Given the description of an element on the screen output the (x, y) to click on. 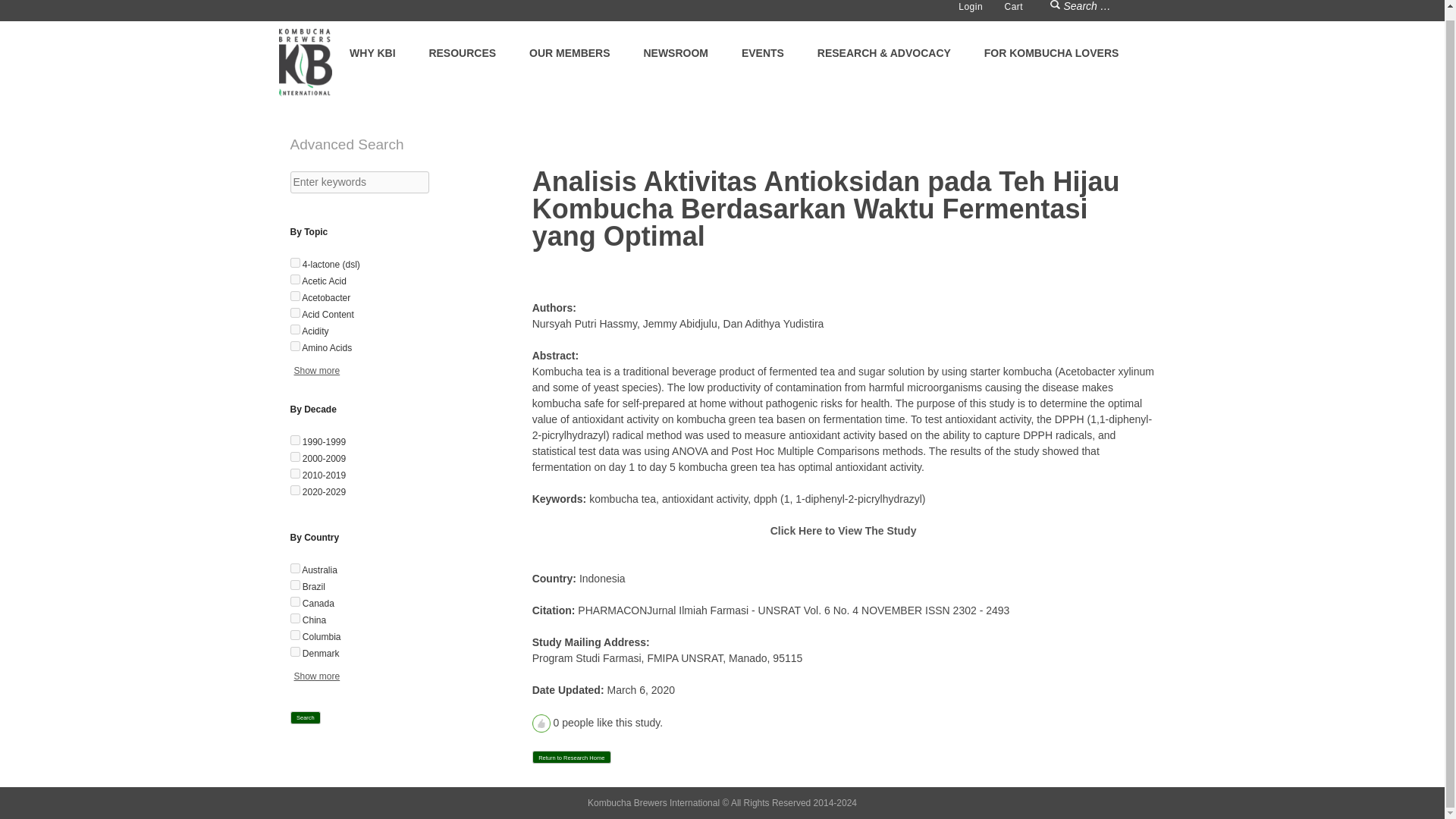
1990 (294, 439)
Denmark (294, 651)
WHY KBI (371, 53)
Click here to like this study (541, 723)
China (294, 618)
2010 (294, 473)
EVENTS (762, 53)
2000 (294, 456)
Acetic Acid (294, 279)
Search (304, 717)
Columbia (294, 634)
Australia (294, 568)
Search (1055, 6)
2020 (294, 490)
Search (1055, 6)
